Given the description of an element on the screen output the (x, y) to click on. 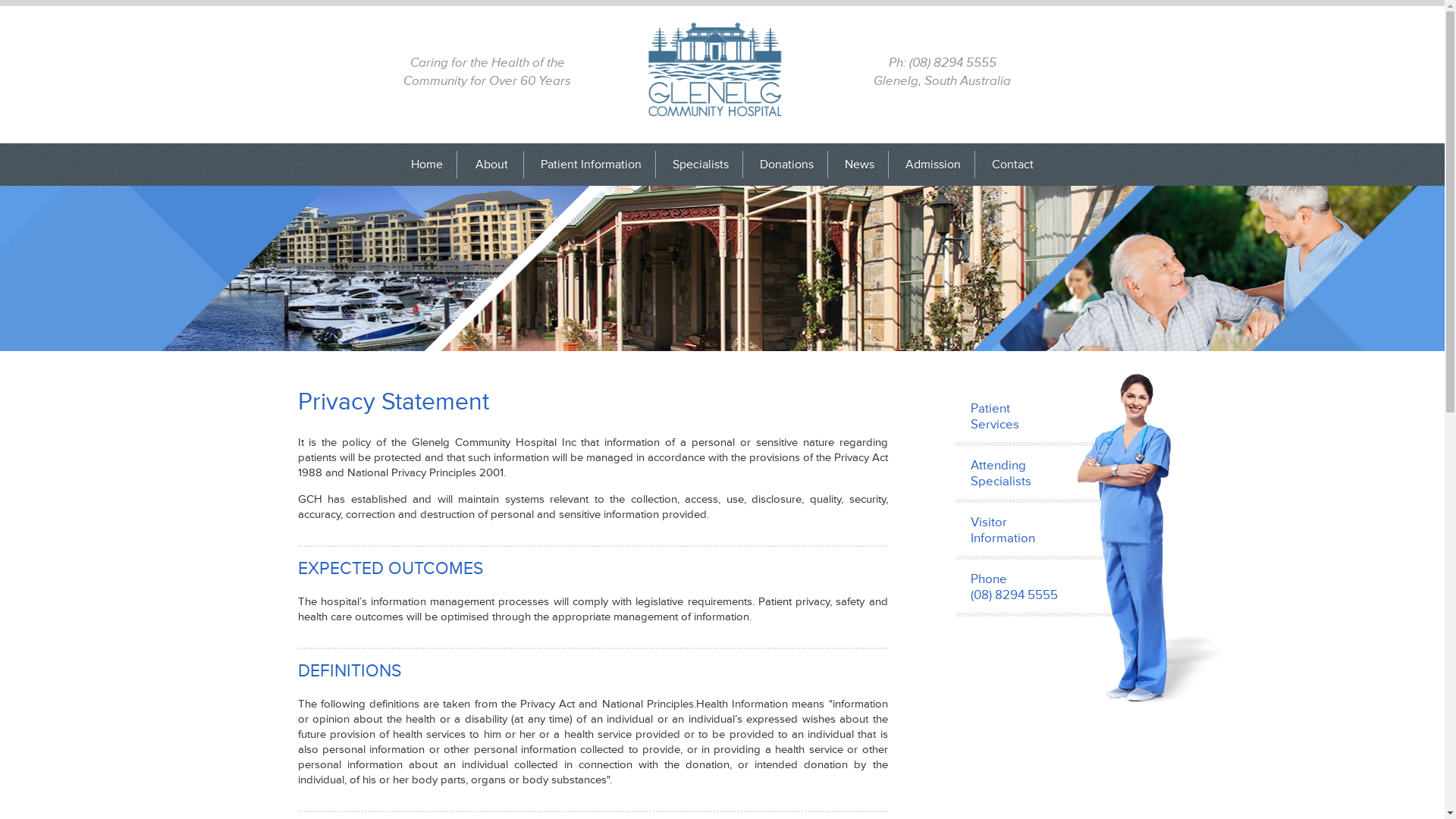
Home Element type: text (427, 164)
Donations Element type: text (787, 164)
Patient Information Element type: text (591, 164)
Patient
Services Element type: text (1054, 417)
Attending
Specialists Element type: text (1054, 473)
Phone
(08) 8294 5555 Element type: text (1054, 587)
News Element type: text (859, 164)
Admission Element type: text (933, 164)
Specialists Element type: text (700, 164)
Visitor
Information Element type: text (1054, 530)
Glenelg Community Hospital Element type: text (714, 69)
Contact Element type: text (1012, 164)
